Given the description of an element on the screen output the (x, y) to click on. 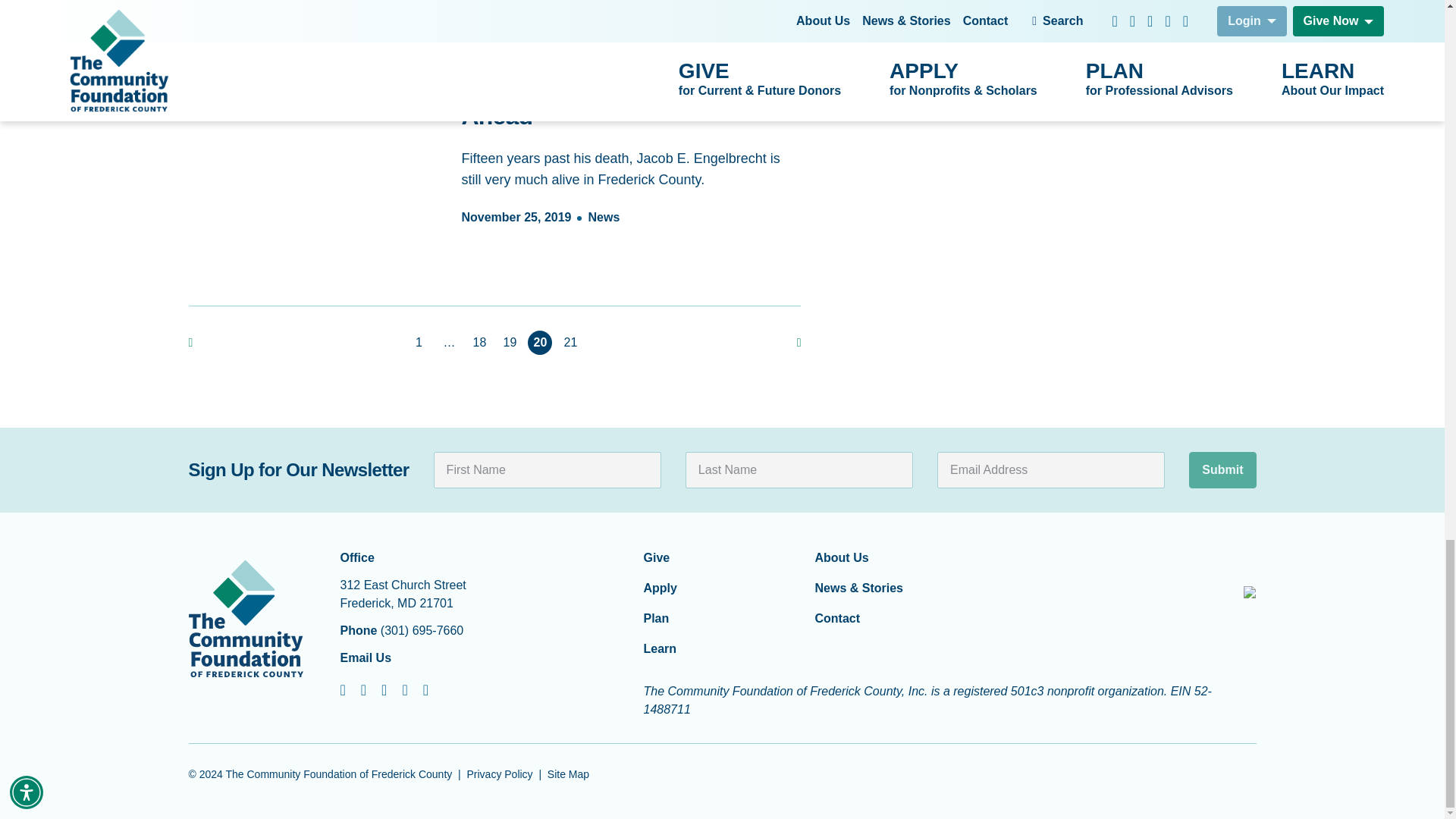
Submit (1222, 470)
